Given the description of an element on the screen output the (x, y) to click on. 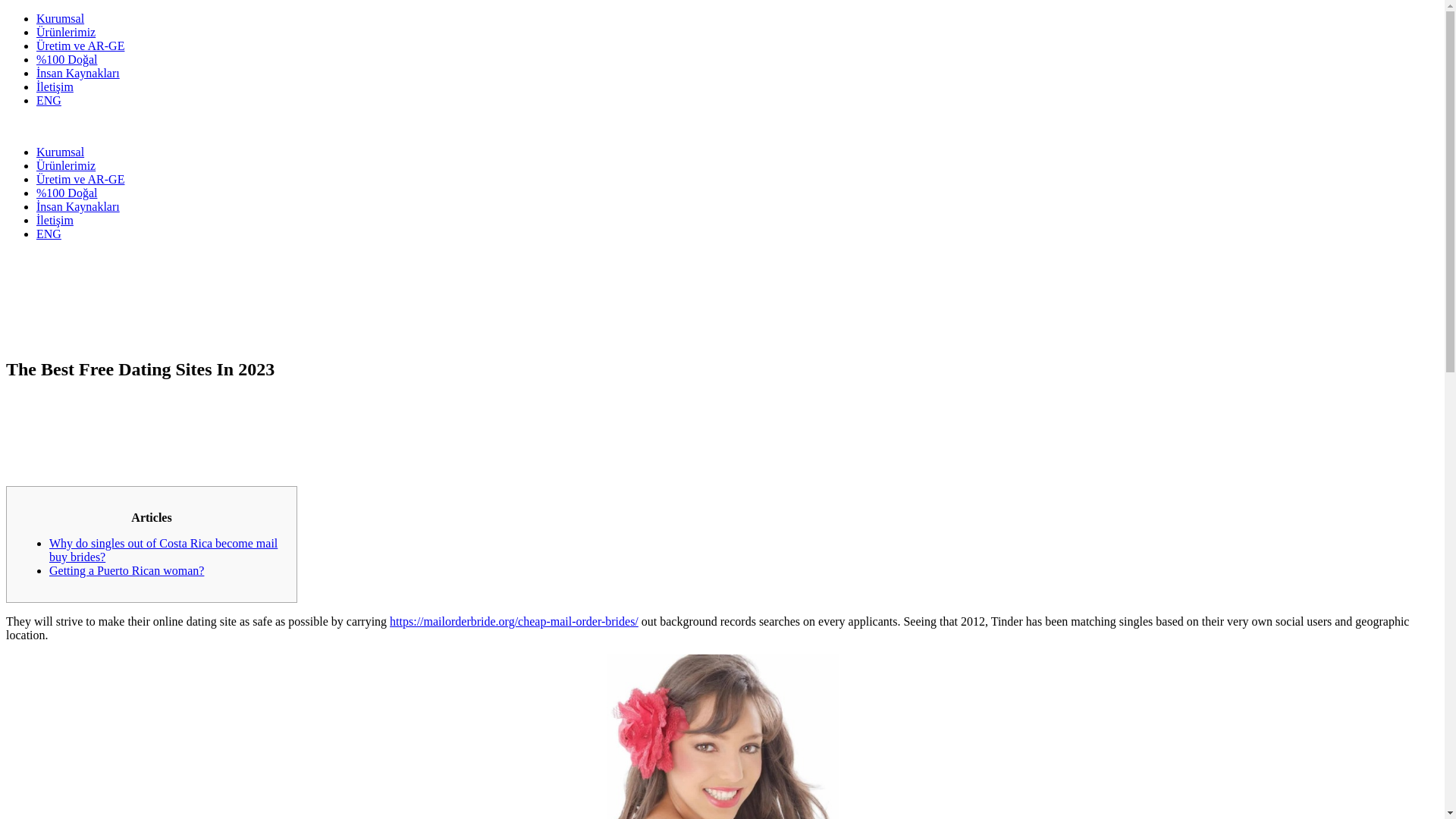
Getting a Puerto Rican woman? (126, 570)
Kurumsal (60, 151)
ENG (48, 100)
Kurumsal (60, 18)
Why do singles out of Costa Rica become mail buy brides? (163, 550)
ENG (48, 233)
